Given the description of an element on the screen output the (x, y) to click on. 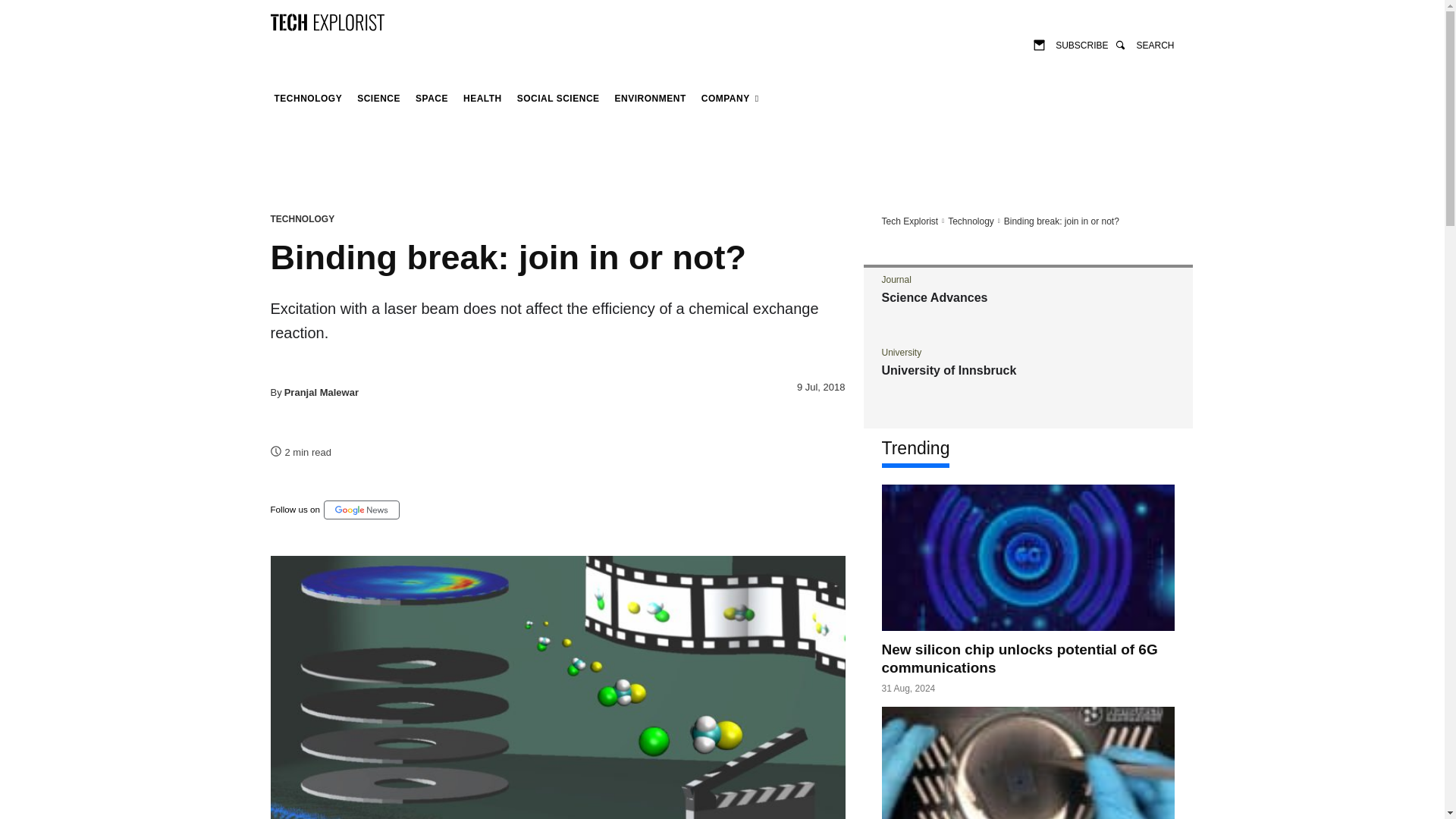
SEARCH (1144, 44)
Tech Explorist Home (908, 221)
SEARCH (1144, 44)
TECHNOLOGY (307, 98)
ENVIRONMENT (650, 98)
TECHNOLOGY (301, 218)
Health (482, 98)
SPACE (431, 98)
SOCIAL SCIENCE (558, 98)
SUBSCRIBE (1070, 44)
